Given the description of an element on the screen output the (x, y) to click on. 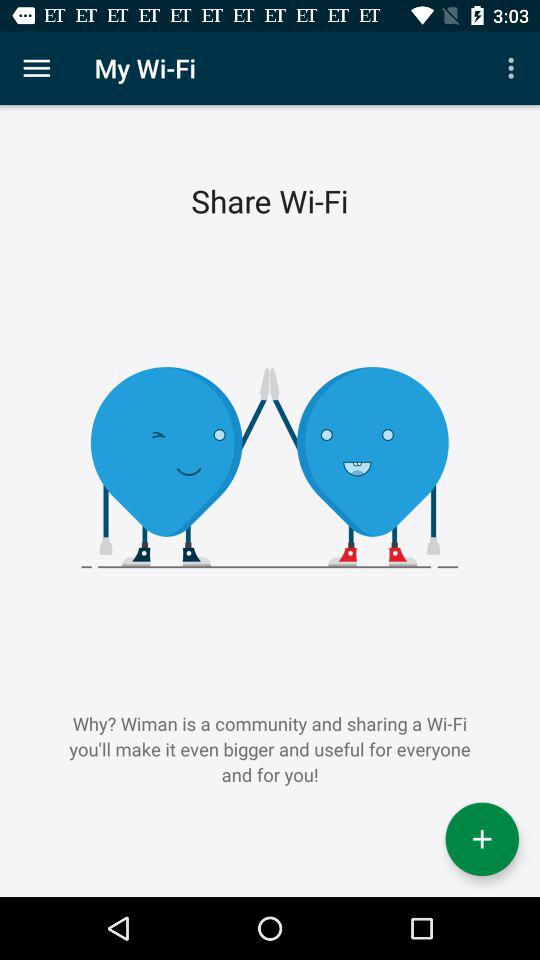
choose item next to the my wi-fi icon (513, 67)
